Given the description of an element on the screen output the (x, y) to click on. 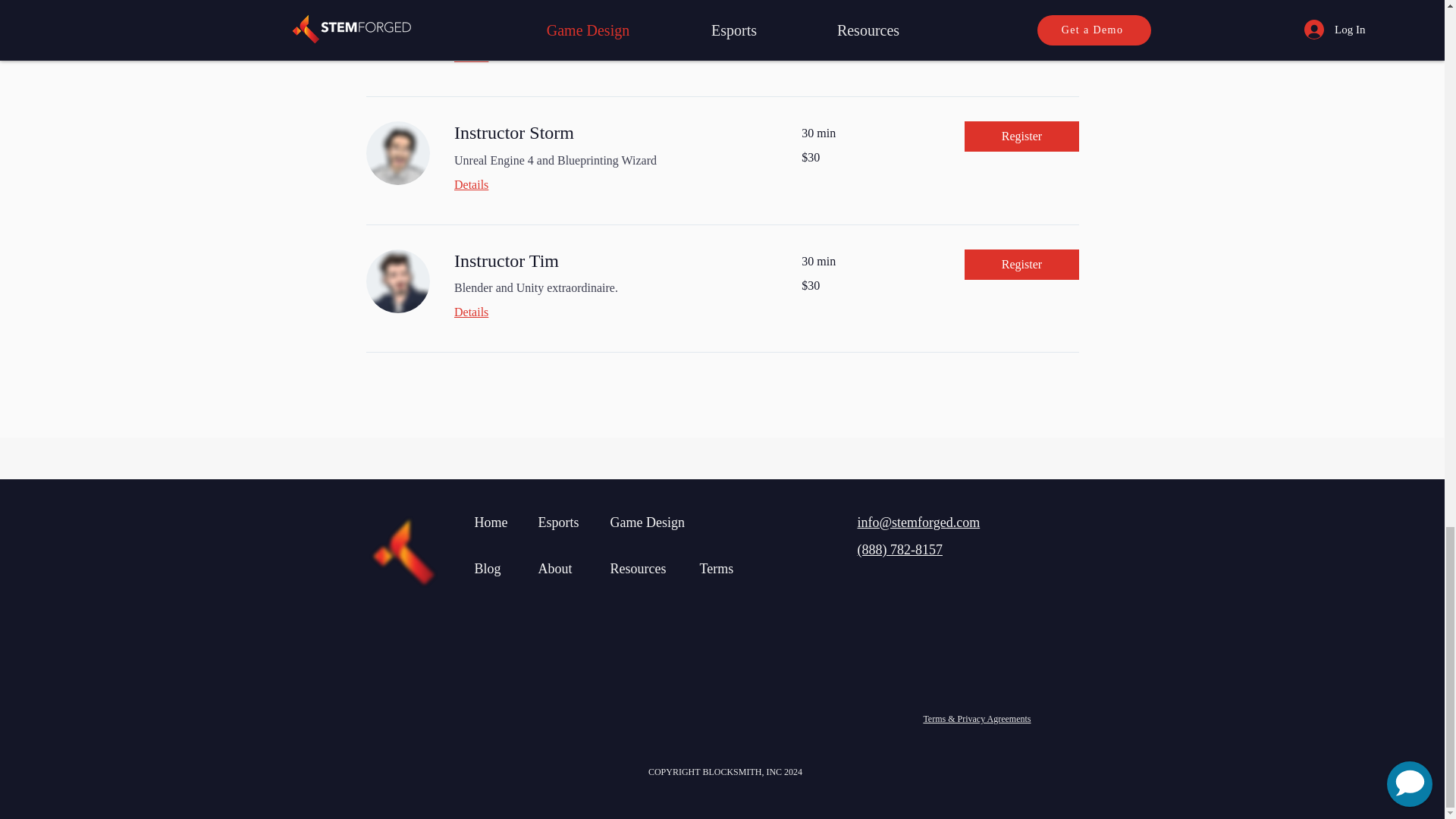
Esports (558, 522)
Details (608, 184)
Instructor Storm (608, 133)
Details (608, 312)
Register (1020, 136)
Register (1020, 11)
Details (608, 56)
Instructor Michelle (608, 8)
Instructor Tim (608, 260)
Home (491, 522)
Register (1020, 263)
